Given the description of an element on the screen output the (x, y) to click on. 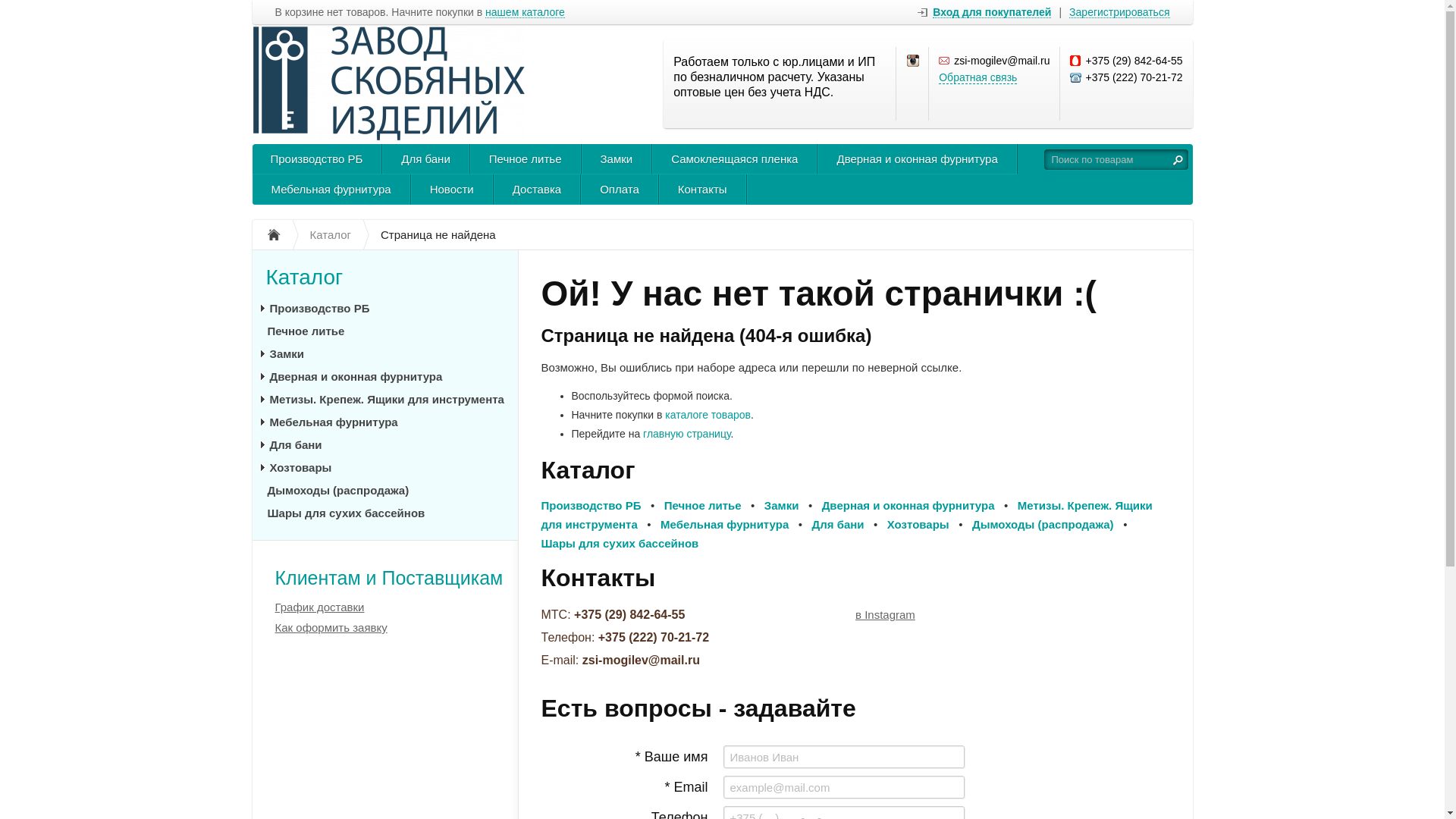
  Element type: text (1177, 159)
